Given the description of an element on the screen output the (x, y) to click on. 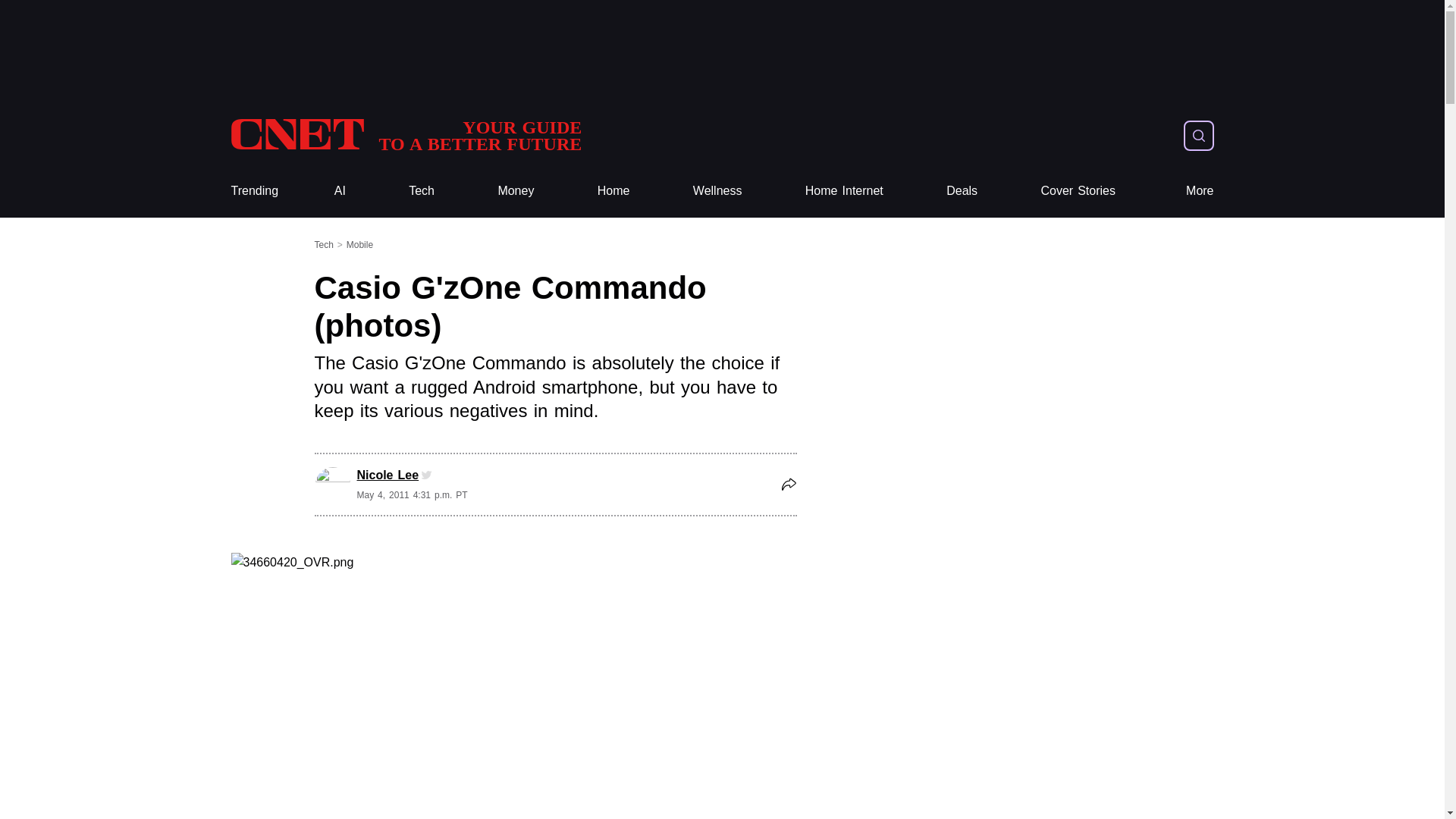
Tech (421, 190)
Home Internet (844, 190)
Wellness (717, 190)
Tech (421, 190)
CNET (405, 135)
Home Internet (844, 190)
Wellness (717, 190)
Deals (961, 190)
Trending (254, 190)
Money (515, 190)
